Given the description of an element on the screen output the (x, y) to click on. 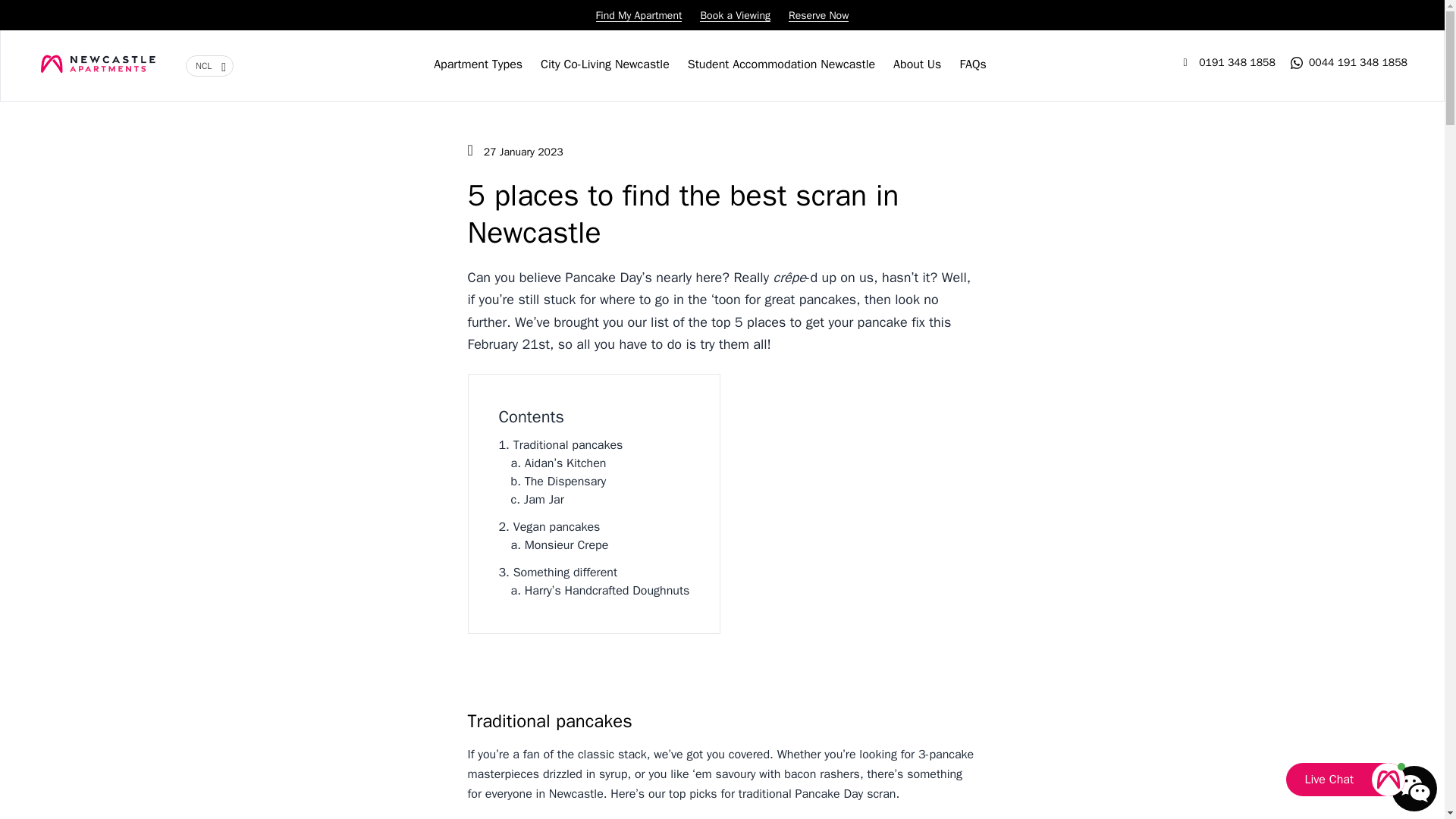
Find My Apartment (638, 15)
Traditional pancakes (568, 444)
The Dispensary (564, 481)
City Co-Living Newcastle (604, 64)
0191 348 1858 (1226, 62)
Apartment Types (477, 64)
Jam Jar (544, 499)
Vegan pancakes (556, 526)
0044 191 348 1858 (1348, 62)
Reserve Now (818, 15)
Book a Viewing (735, 15)
About Us (916, 64)
FAQs (972, 64)
Student Accommodation Newcastle (781, 64)
Monsieur Crepe (566, 545)
